Given the description of an element on the screen output the (x, y) to click on. 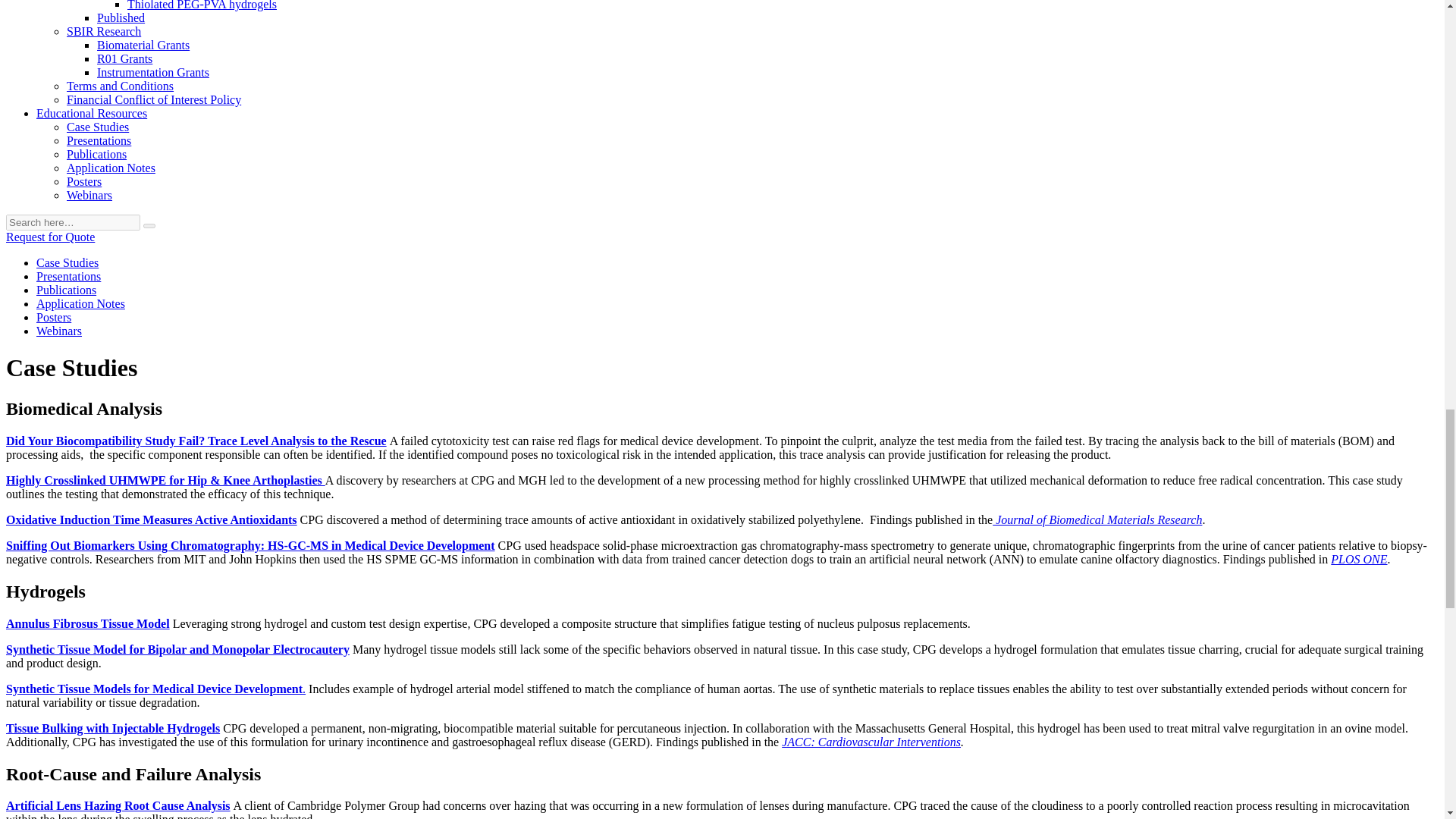
Artificial Annulus Fibrosus Model CASESTUDY-6 v1.0.pdf (87, 623)
Synthetic Tissue Models for Medical Device Development.pdf (155, 688)
Trace level analysis CASESTUDY-72 v1.0.pdf (196, 440)
